Given the description of an element on the screen output the (x, y) to click on. 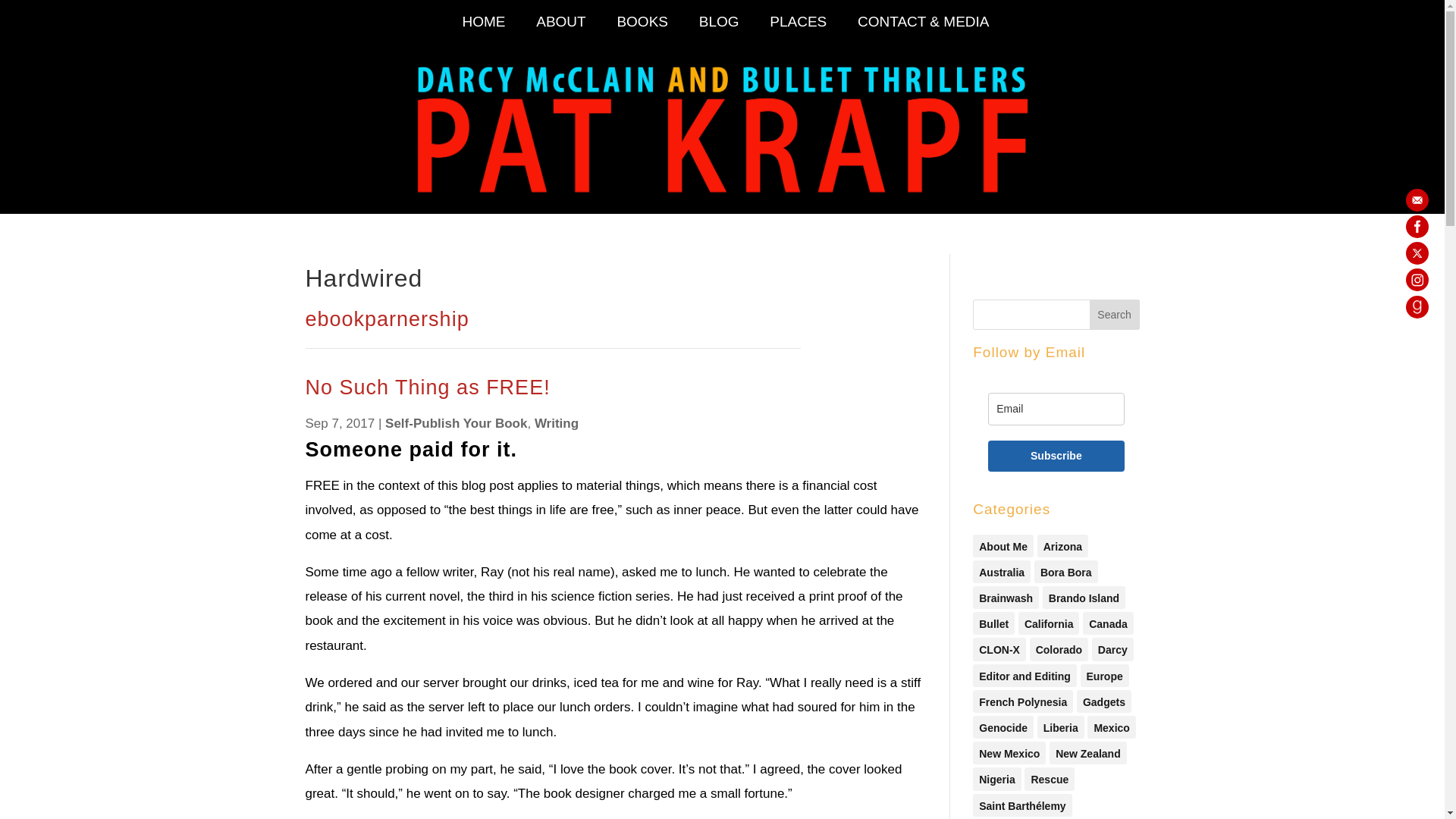
Bullet (993, 622)
Brando Island (1083, 597)
PLACES (797, 28)
CLON-X (999, 649)
Darcy (1113, 649)
Gadgets (1104, 701)
Writing (556, 423)
Subscribe (1056, 455)
HOME (483, 28)
Australia (1001, 571)
California (1048, 622)
header3-patk-2022 (721, 127)
About Me (1002, 545)
Europe (1104, 675)
BLOG (719, 28)
